Given the description of an element on the screen output the (x, y) to click on. 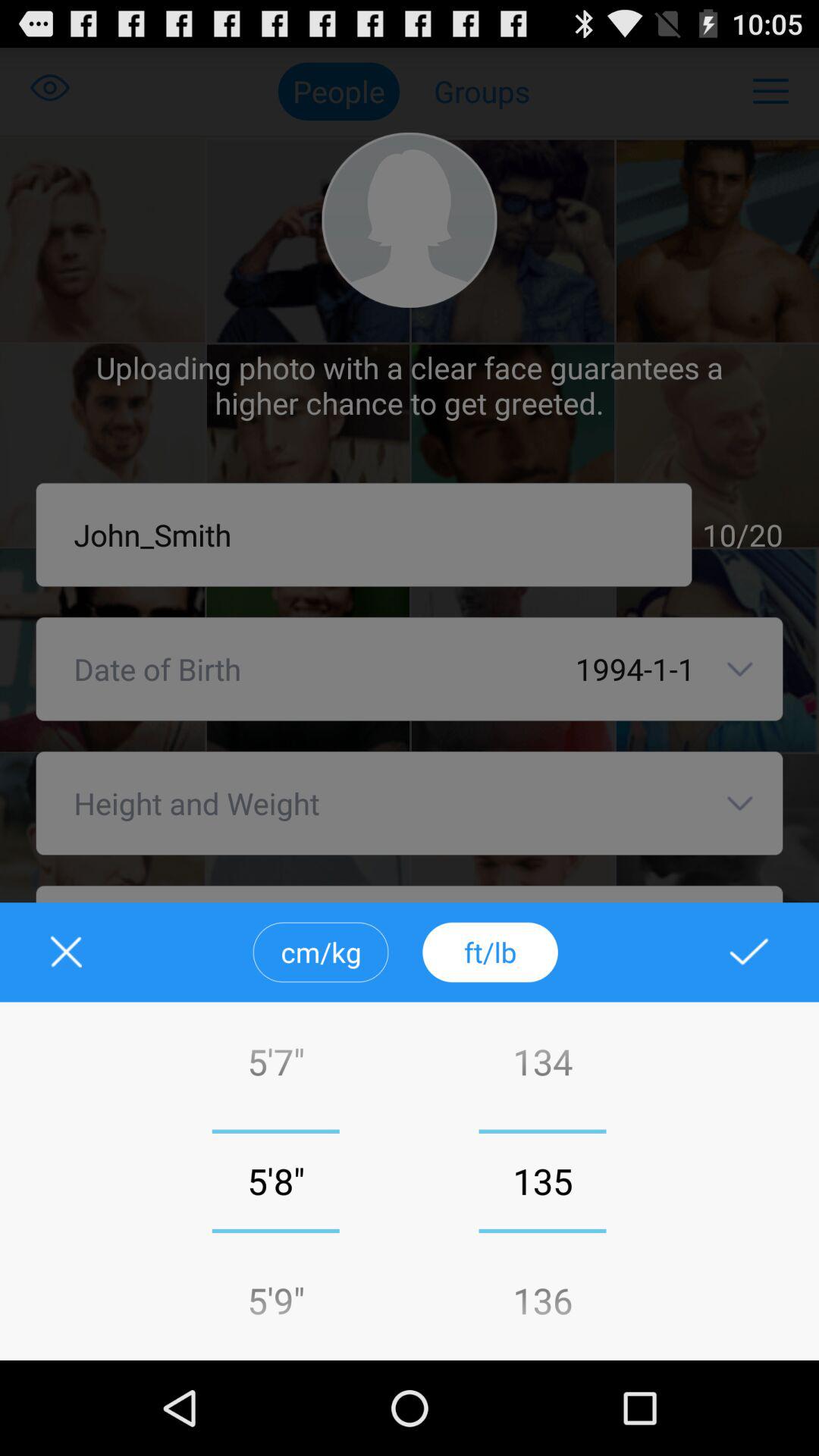
close height and weight (75, 952)
